Given the description of an element on the screen output the (x, y) to click on. 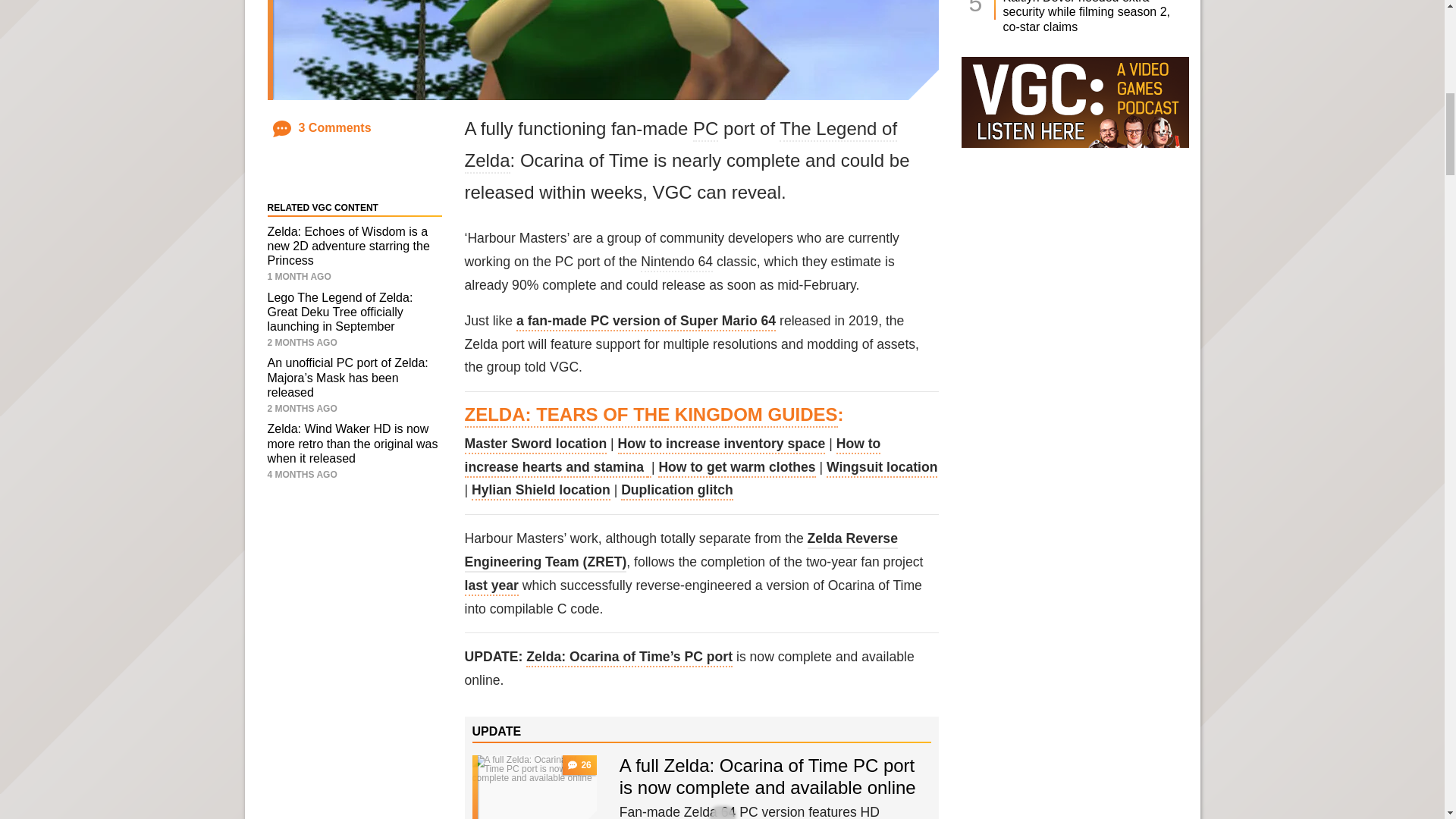
ZELDA: TEARS OF THE KINGDOM GUIDES (650, 415)
How to get warm clothes (736, 468)
The Legend of Zelda (680, 145)
PC (705, 129)
26 Comments (578, 764)
a fan-made PC version of Super Mario 64 (646, 321)
Nintendo 64 (676, 262)
Master Sword location (535, 444)
Wingsuit location (882, 468)
